Given the description of an element on the screen output the (x, y) to click on. 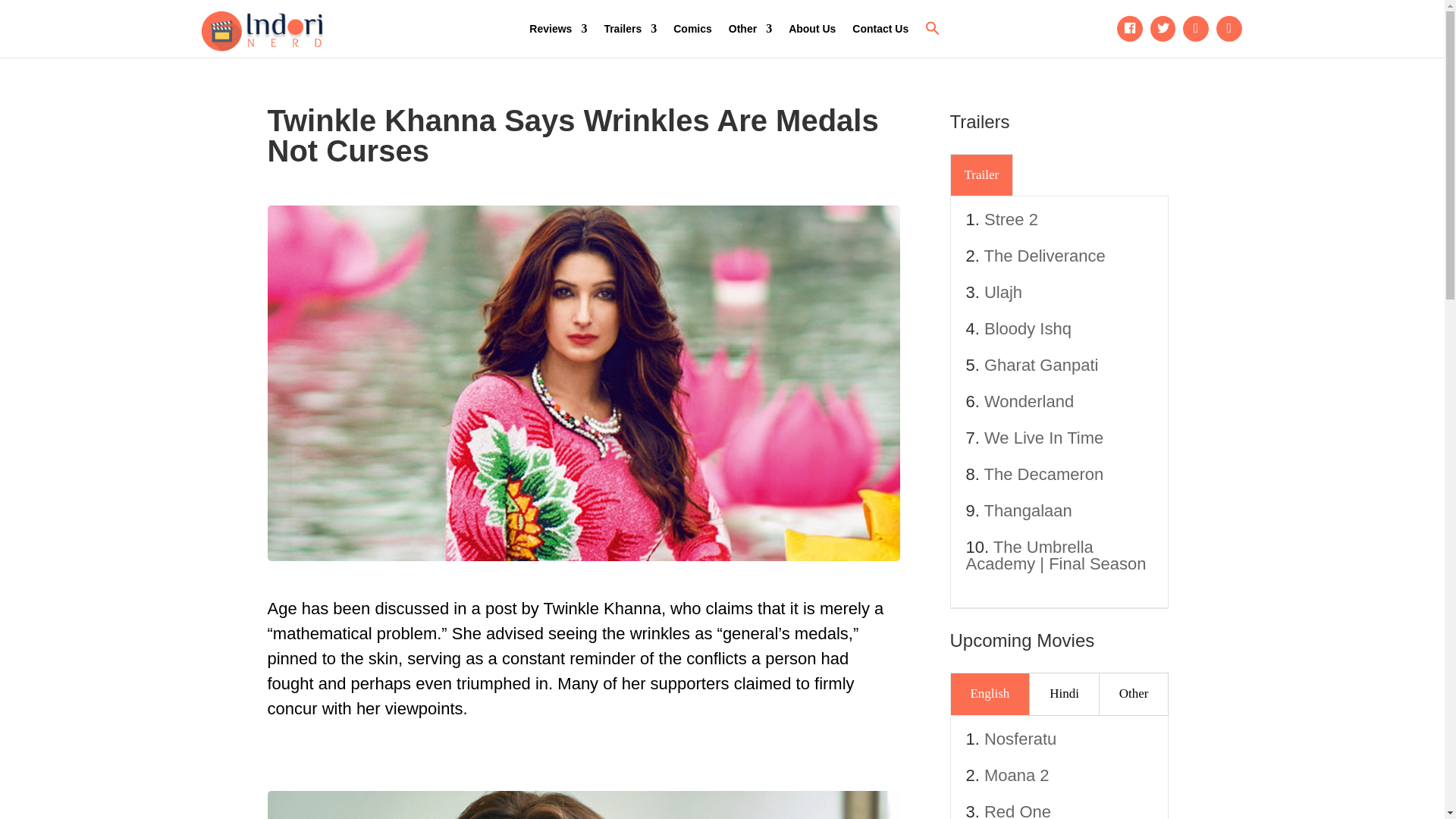
Youtube (1195, 28)
Twitter (1163, 28)
Rss (1229, 28)
Comics (691, 28)
About Us (812, 28)
Contact Us (879, 28)
Trailers (630, 28)
Other (750, 28)
Reviews (557, 28)
Facebook alt (1130, 28)
